Given the description of an element on the screen output the (x, y) to click on. 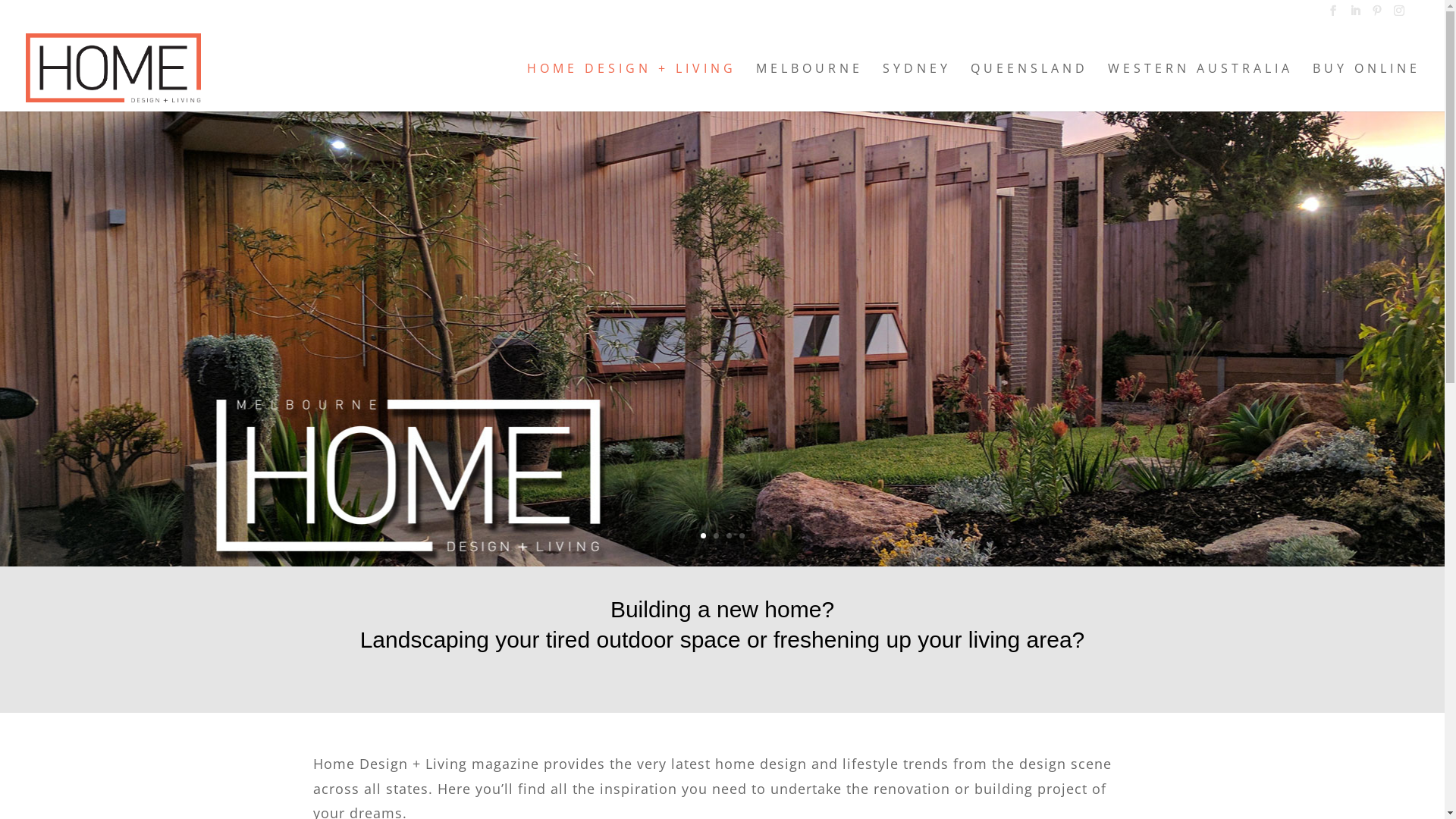
2 Element type: text (715, 535)
4 Element type: text (740, 535)
MELBOURNE Element type: text (809, 86)
WESTERN AUSTRALIA Element type: text (1199, 86)
SYDNEY Element type: text (916, 86)
QUEENSLAND Element type: text (1029, 86)
HOME DESIGN + LIVING Element type: text (631, 86)
BUY ONLINE Element type: text (1366, 86)
1 Element type: text (703, 535)
3 Element type: text (728, 535)
